Given the description of an element on the screen output the (x, y) to click on. 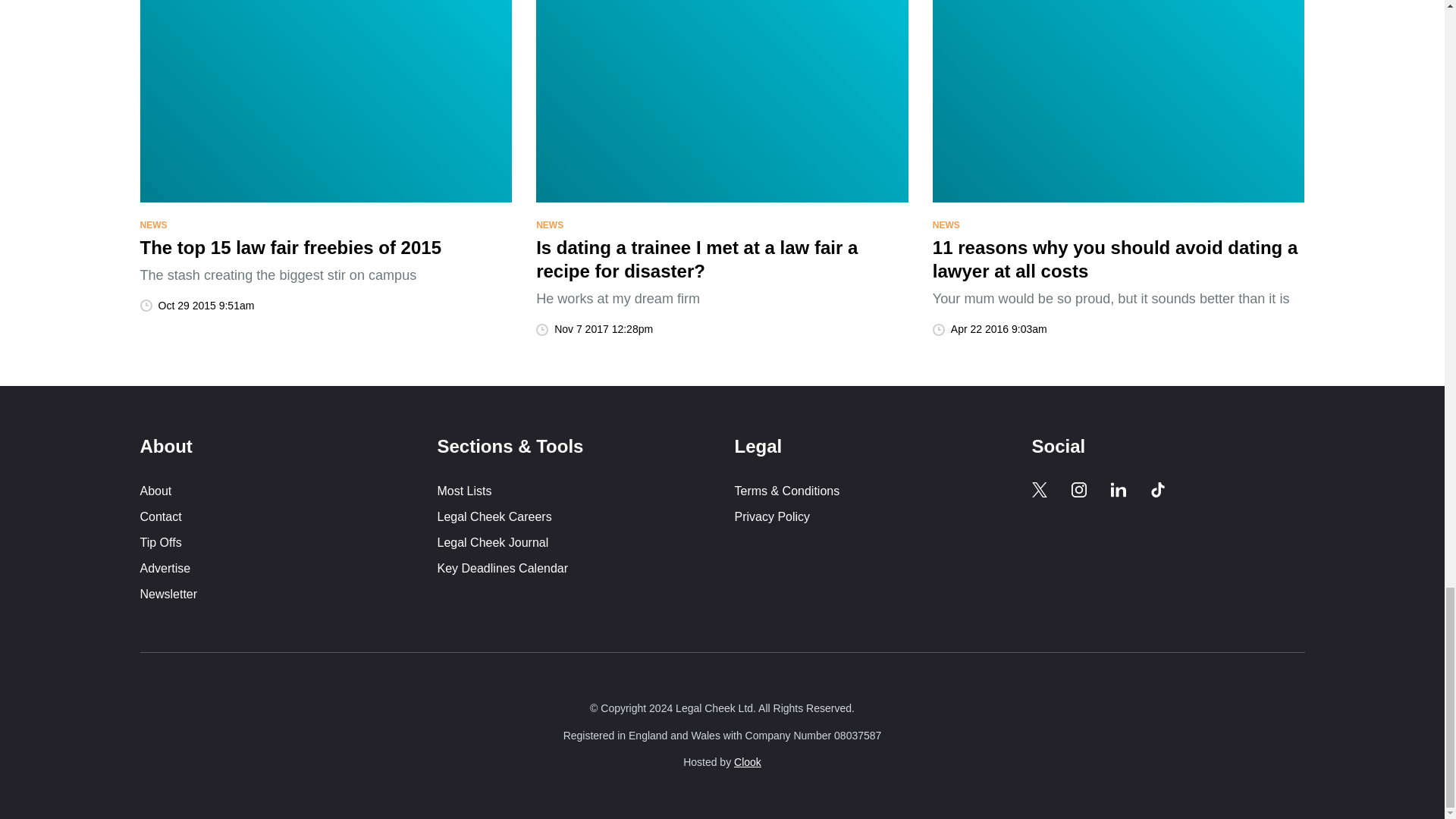
Legal Cheek LinkedIn (1117, 489)
Legal Cheek Tik Tok (1157, 489)
Legal Cheek Twitter (1038, 489)
Legal Cheek Instagram (1078, 489)
